Given the description of an element on the screen output the (x, y) to click on. 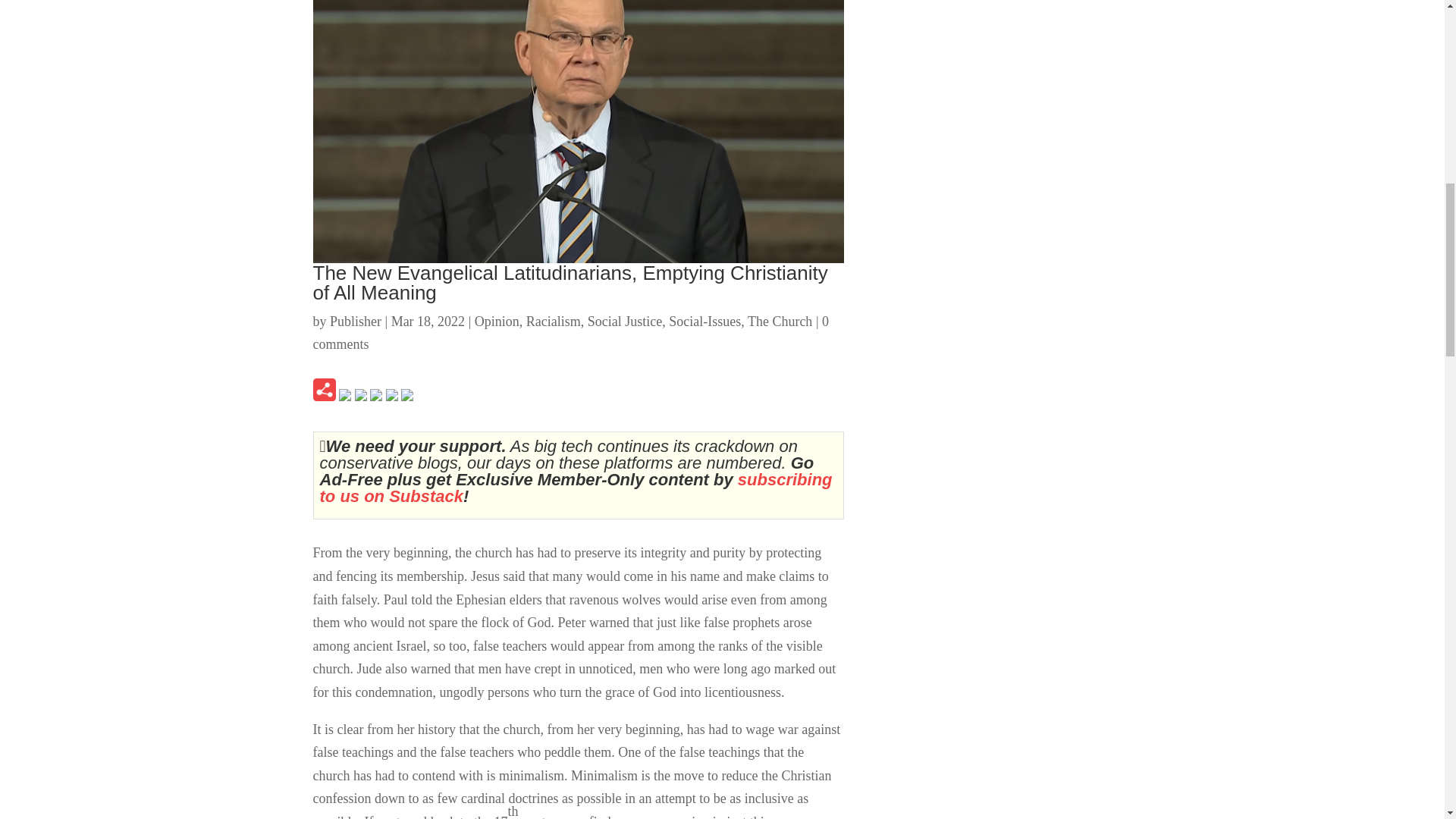
Posts by Publisher (355, 321)
